Given the description of an element on the screen output the (x, y) to click on. 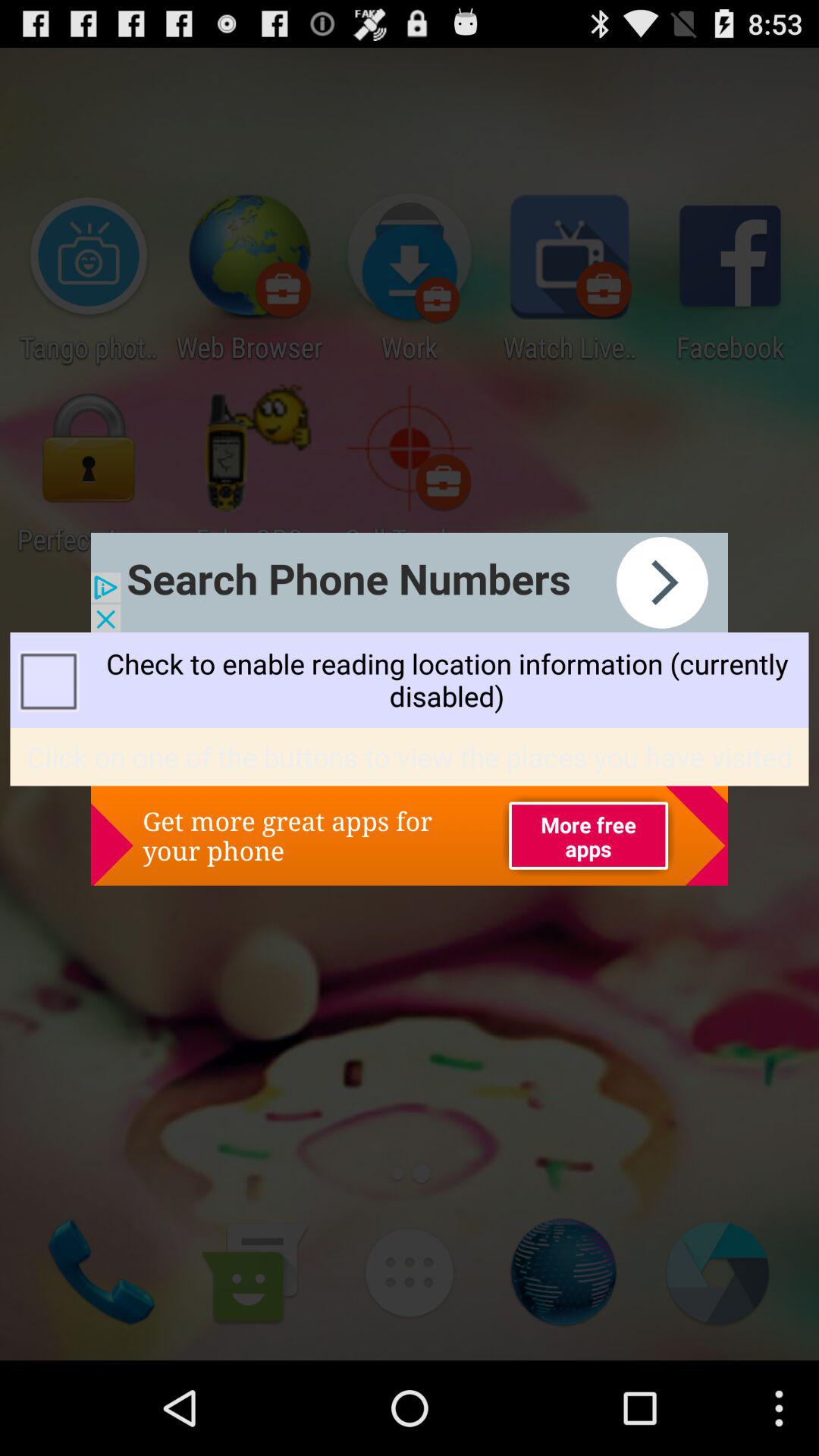
search numbers (409, 582)
